Given the description of an element on the screen output the (x, y) to click on. 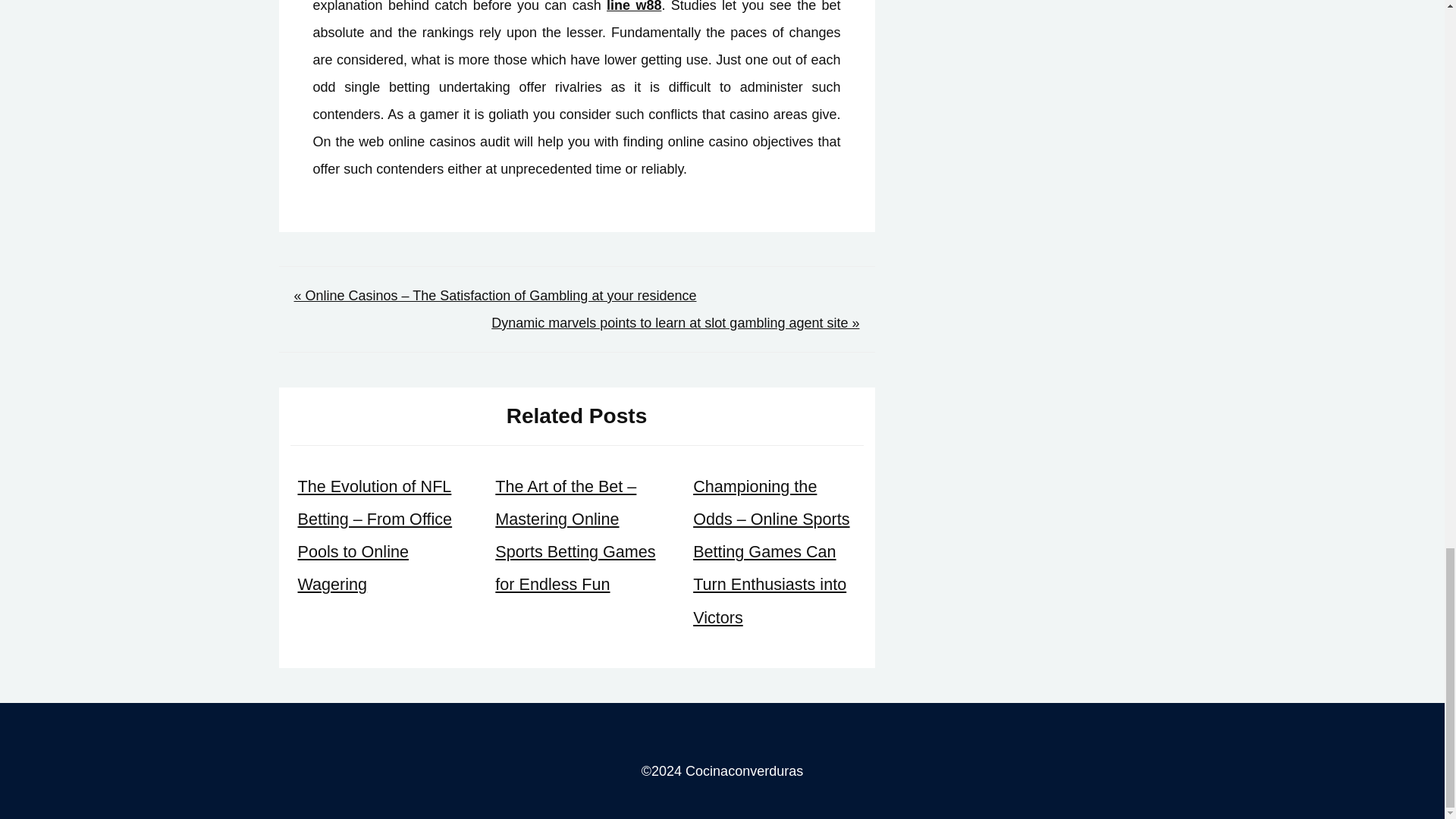
line w88 (634, 6)
